Given the description of an element on the screen output the (x, y) to click on. 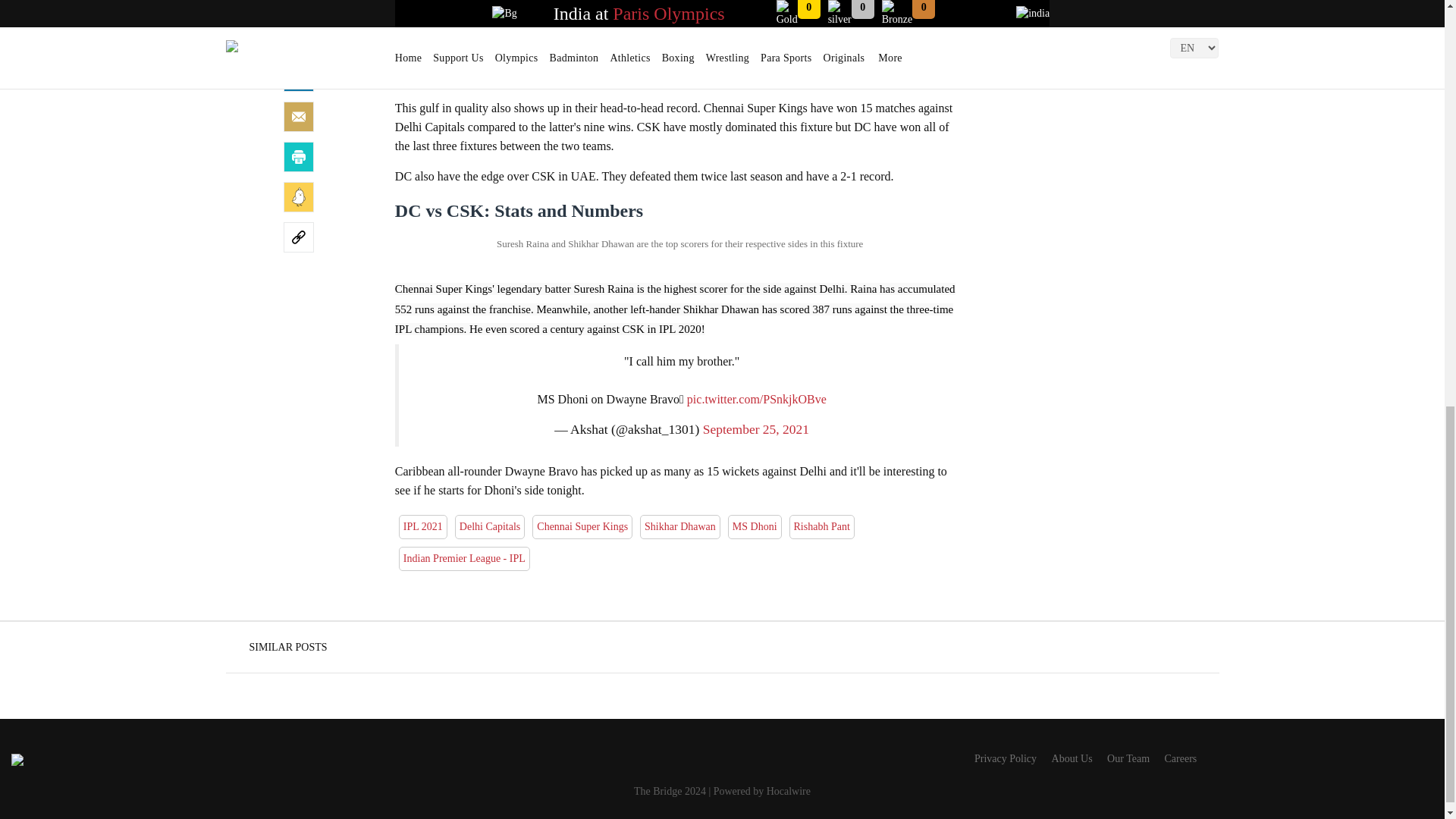
Share by Email (298, 116)
LinkedIn (298, 76)
